Given the description of an element on the screen output the (x, y) to click on. 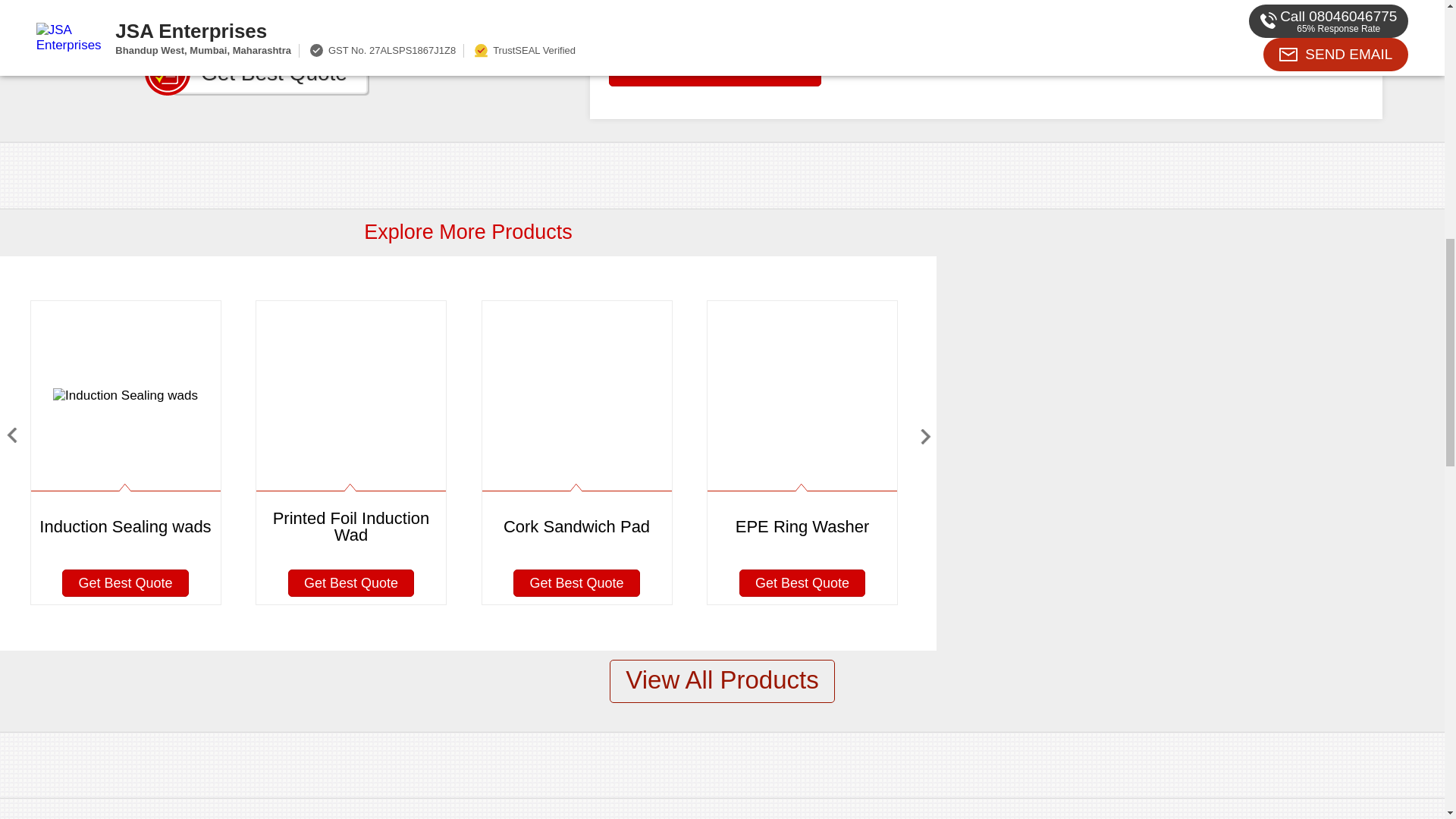
View All Products (722, 681)
